Given the description of an element on the screen output the (x, y) to click on. 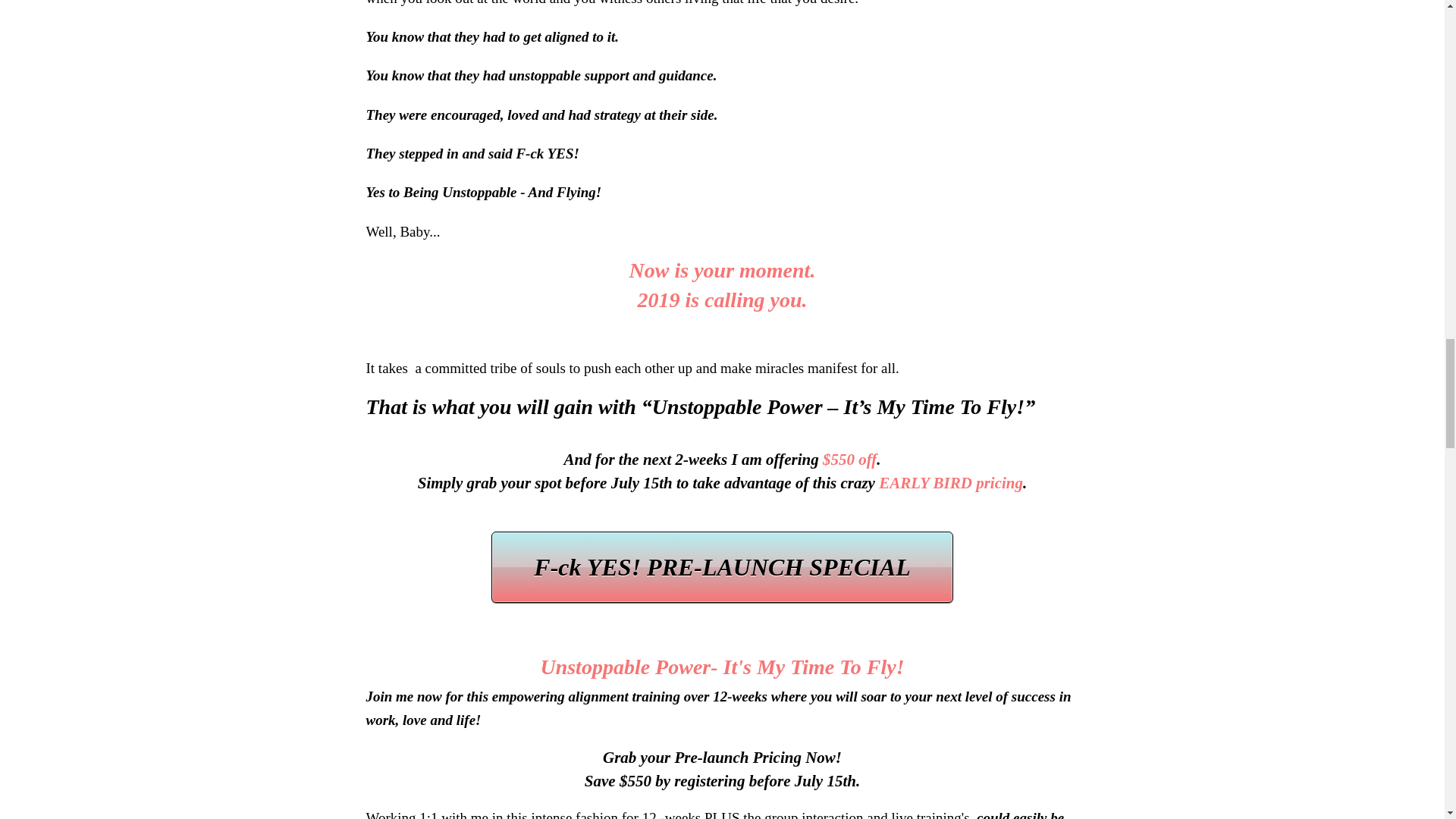
F-ck YES! PRE-LAUNCH SPECIAL (722, 566)
